Given the description of an element on the screen output the (x, y) to click on. 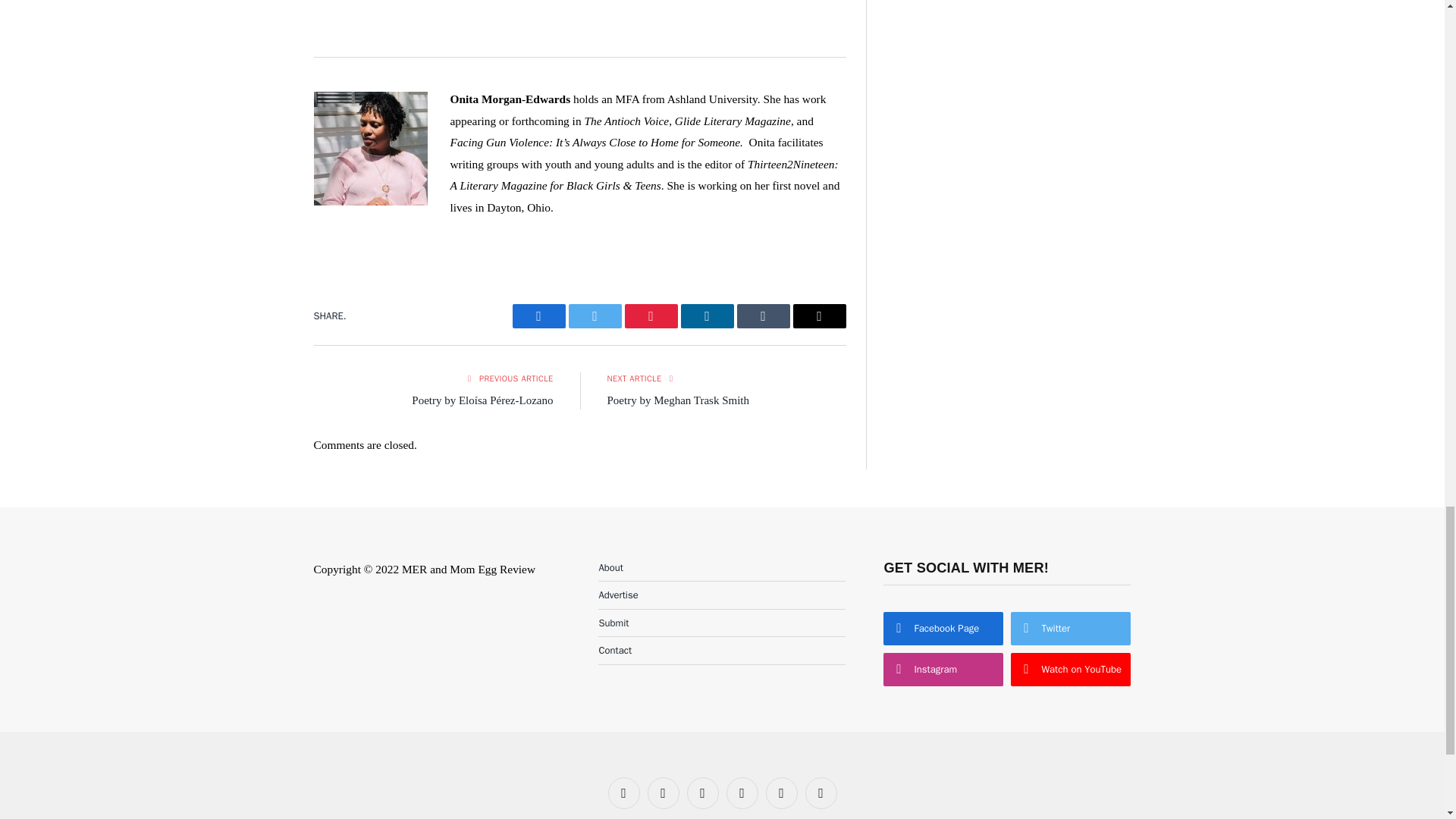
Share on Facebook (539, 315)
Share on Pinterest (651, 315)
Share via Email (819, 315)
Share on Tumblr (763, 315)
Share on LinkedIn (707, 315)
